Given the description of an element on the screen output the (x, y) to click on. 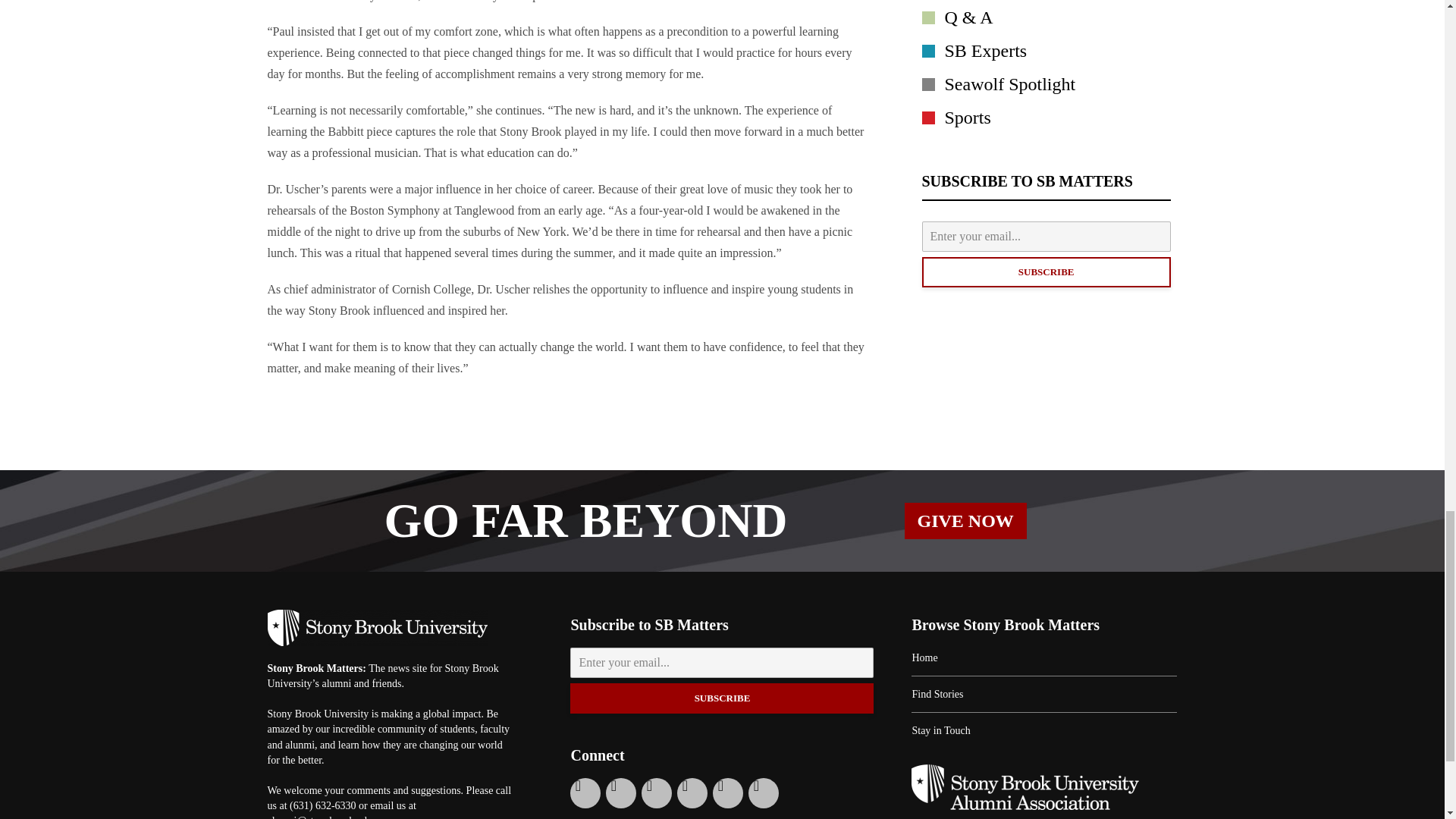
stony-brook-university-logo-horizontal-white-300 (376, 627)
